Given the description of an element on the screen output the (x, y) to click on. 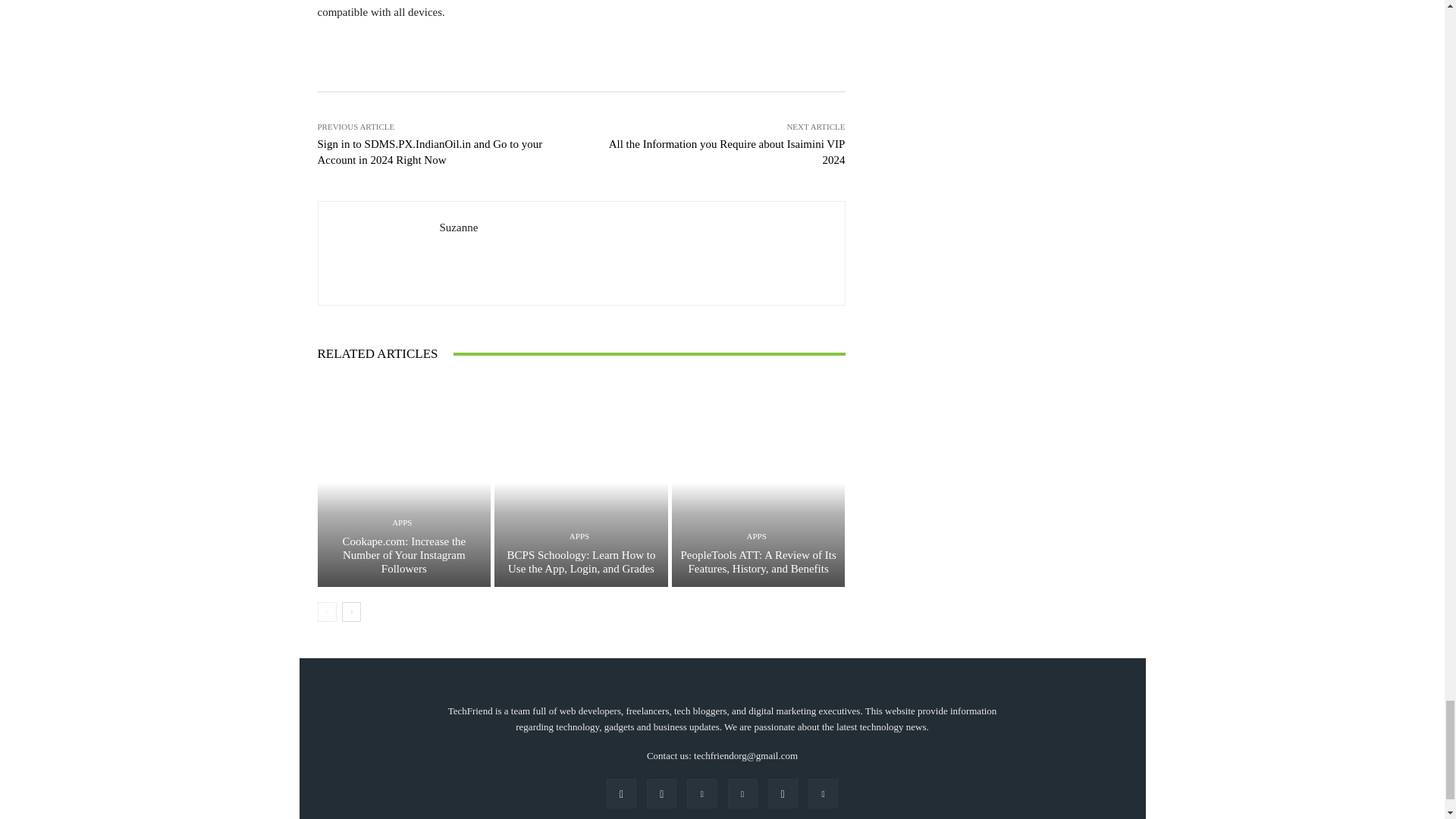
BCPS Schoology: Learn How to Use the App, Login, and Grades (581, 561)
Cookape.com: Increase the Number of Your Instagram Followers (403, 554)
suzanne (379, 253)
